Given the description of an element on the screen output the (x, y) to click on. 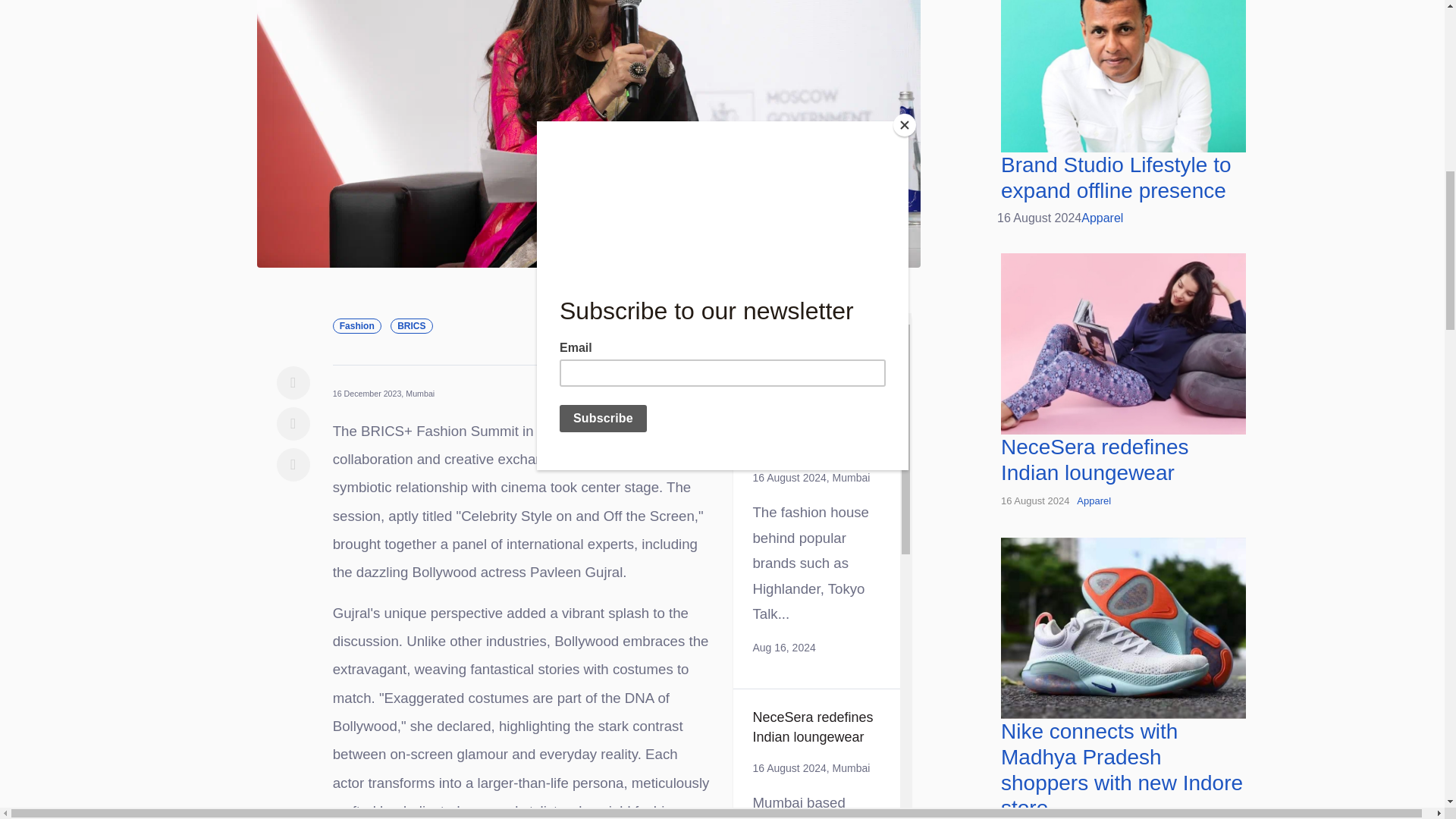
Twitter (293, 423)
Facebook (293, 382)
LinkedIn (293, 464)
